Given the description of an element on the screen output the (x, y) to click on. 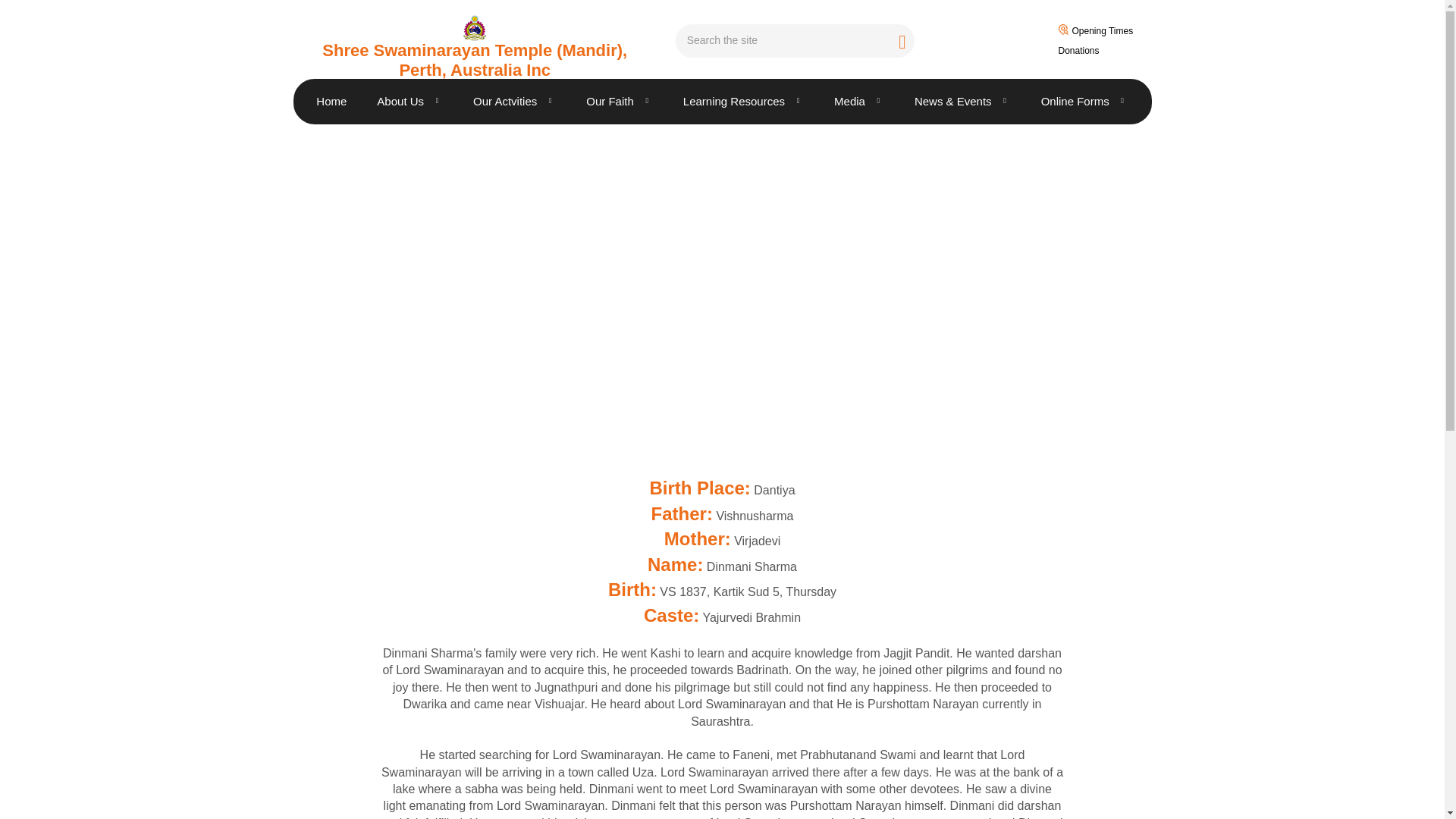
Our Actvities (514, 101)
Opening Times (1121, 26)
About Us (409, 101)
Online Forms (1084, 101)
Media (858, 101)
Our Faith (619, 101)
Home (331, 101)
Donations (1115, 46)
Learning Resources (743, 101)
